Given the description of an element on the screen output the (x, y) to click on. 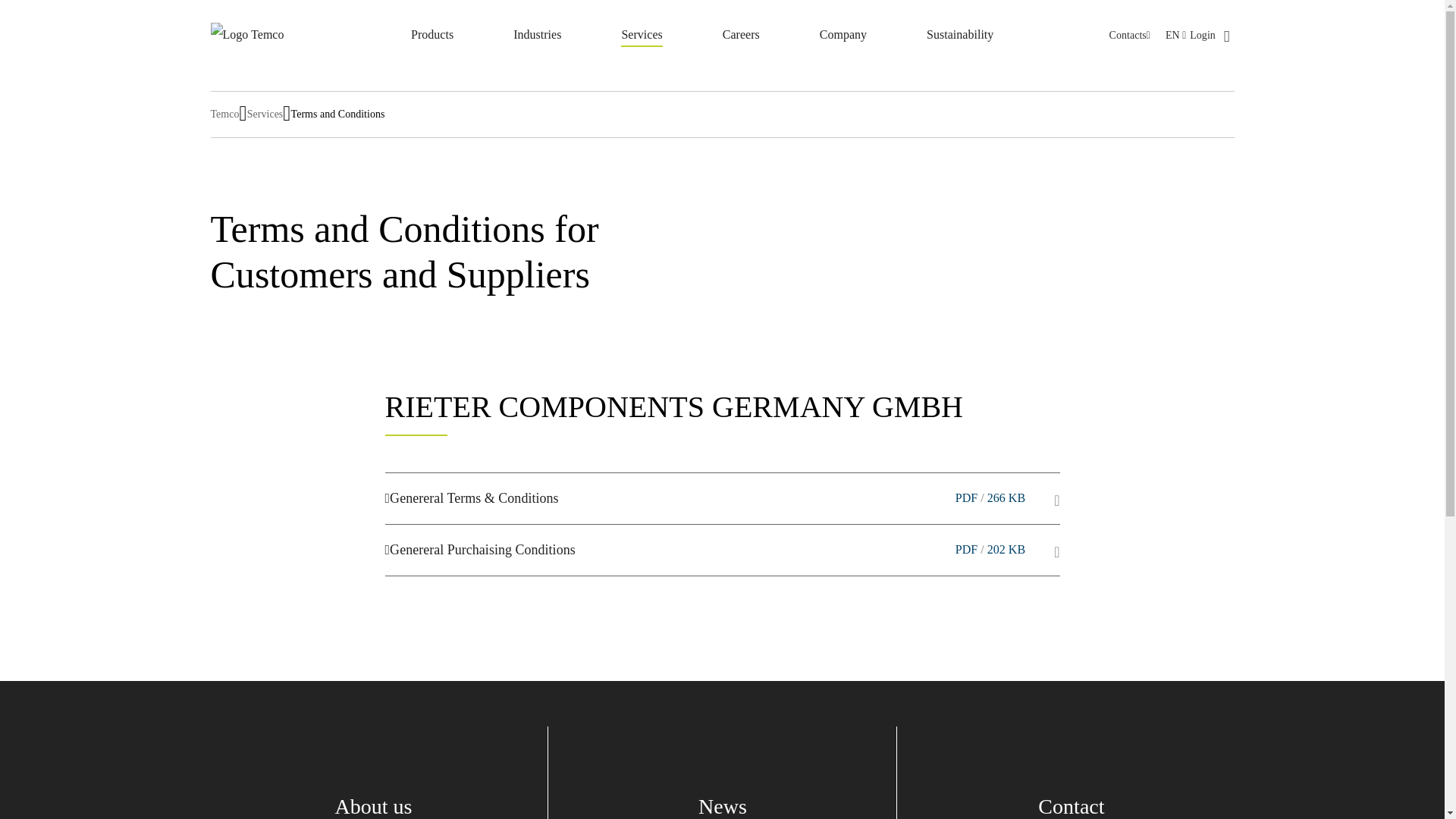
Products (431, 36)
Industries (536, 36)
Products (431, 36)
Industries (536, 36)
